Given the description of an element on the screen output the (x, y) to click on. 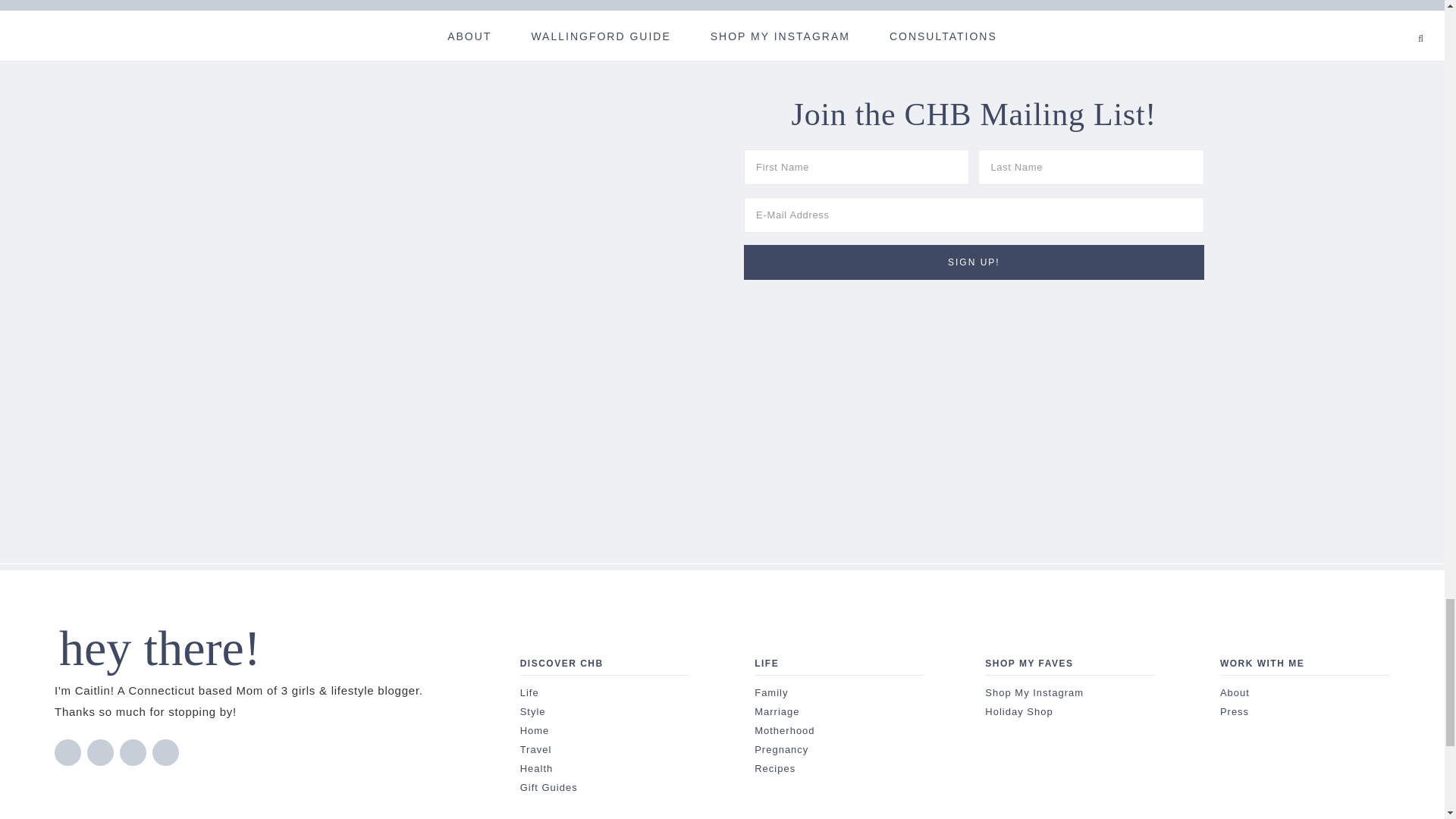
Sign Up! (974, 262)
